Given the description of an element on the screen output the (x, y) to click on. 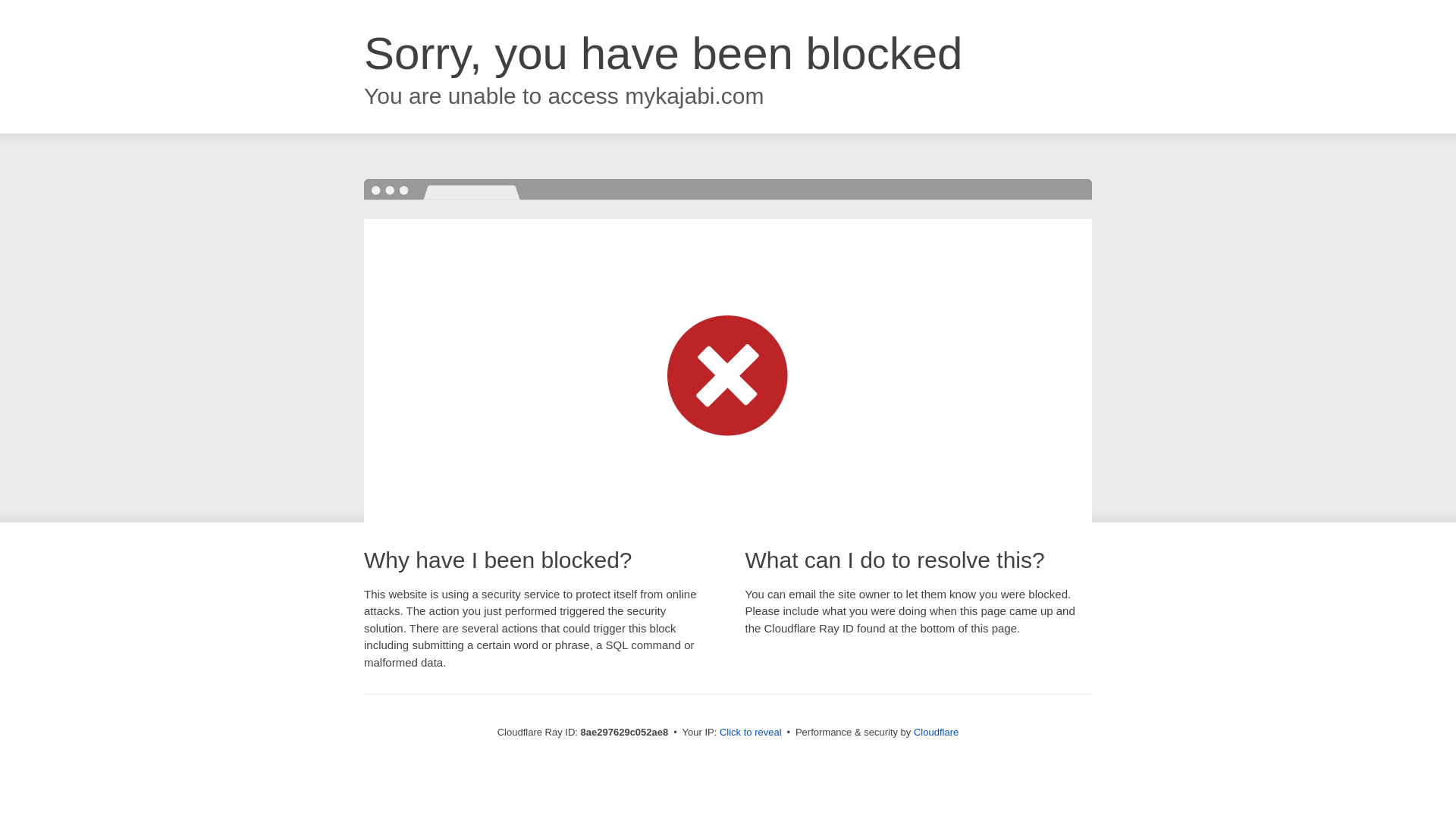
Click to reveal (750, 732)
Cloudflare (936, 731)
